Given the description of an element on the screen output the (x, y) to click on. 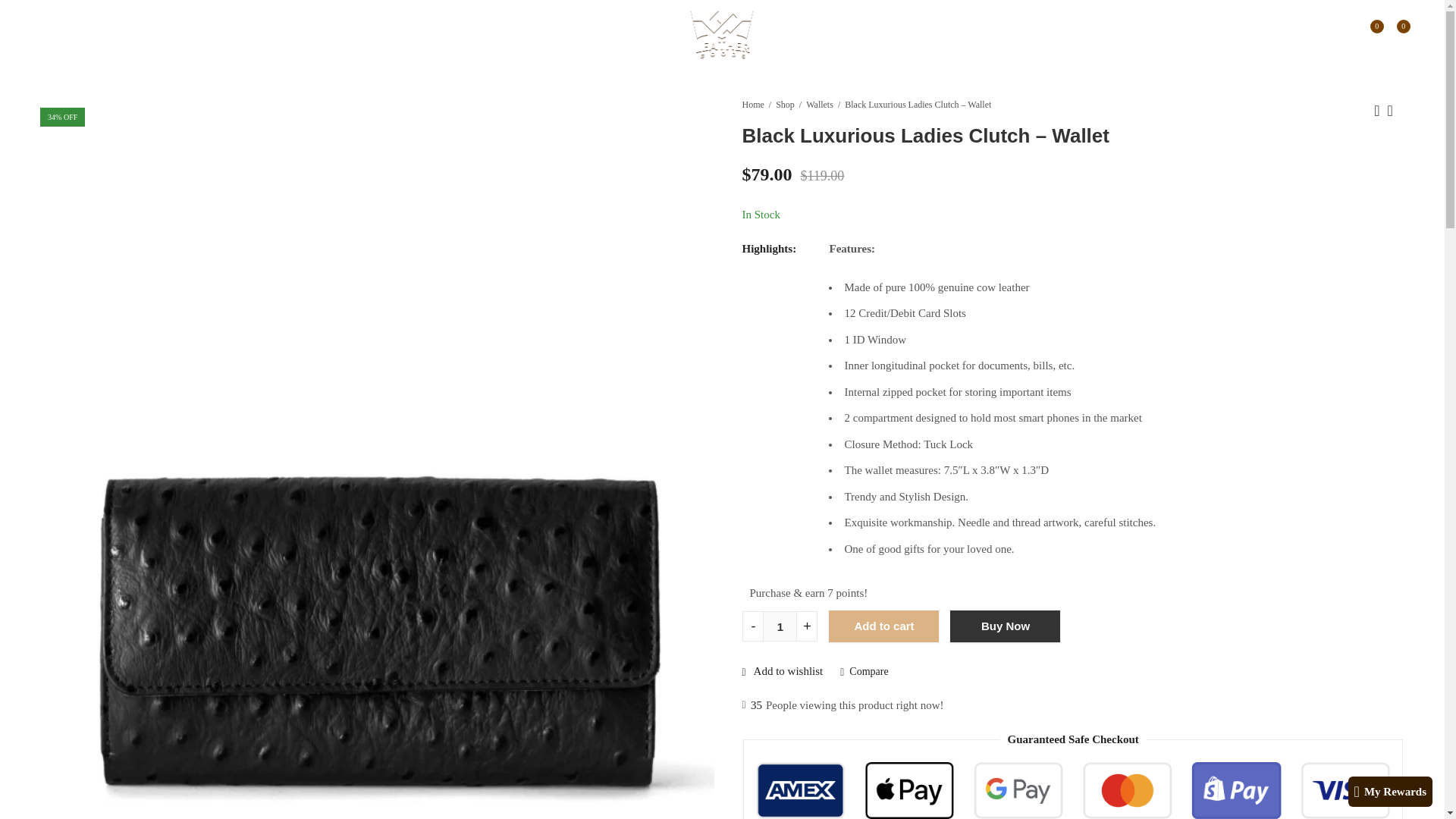
Home (751, 104)
Add to wishlist (781, 671)
Women (103, 34)
Shop (785, 104)
Add to cart (883, 626)
Men (58, 34)
Rewards (230, 34)
1 (779, 625)
Compare (864, 671)
Backpacks (164, 34)
Wallets (819, 104)
Buy Now (1004, 626)
Blog (279, 34)
